Given the description of an element on the screen output the (x, y) to click on. 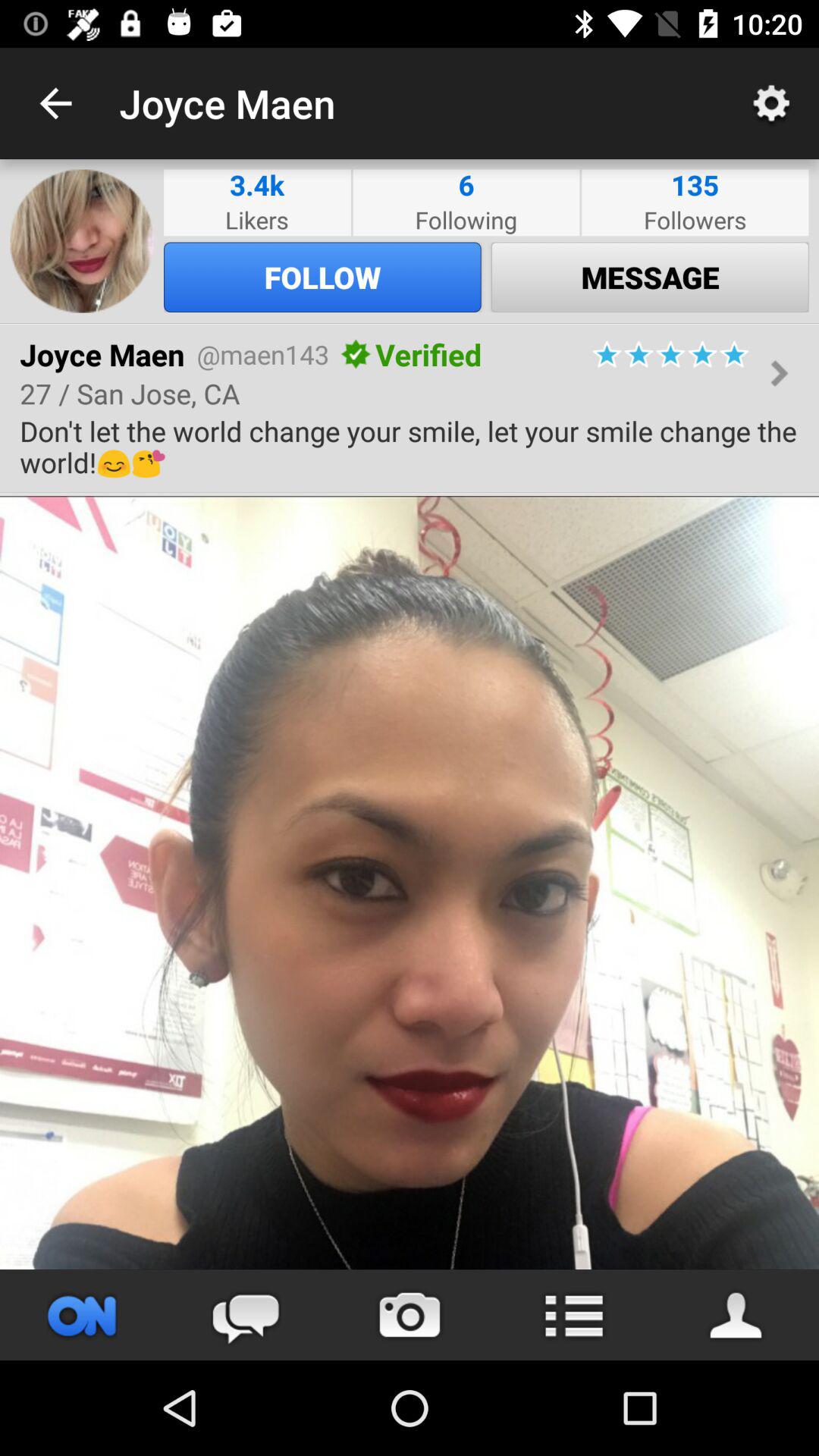
click icon above the joyce maen (409, 323)
